Given the description of an element on the screen output the (x, y) to click on. 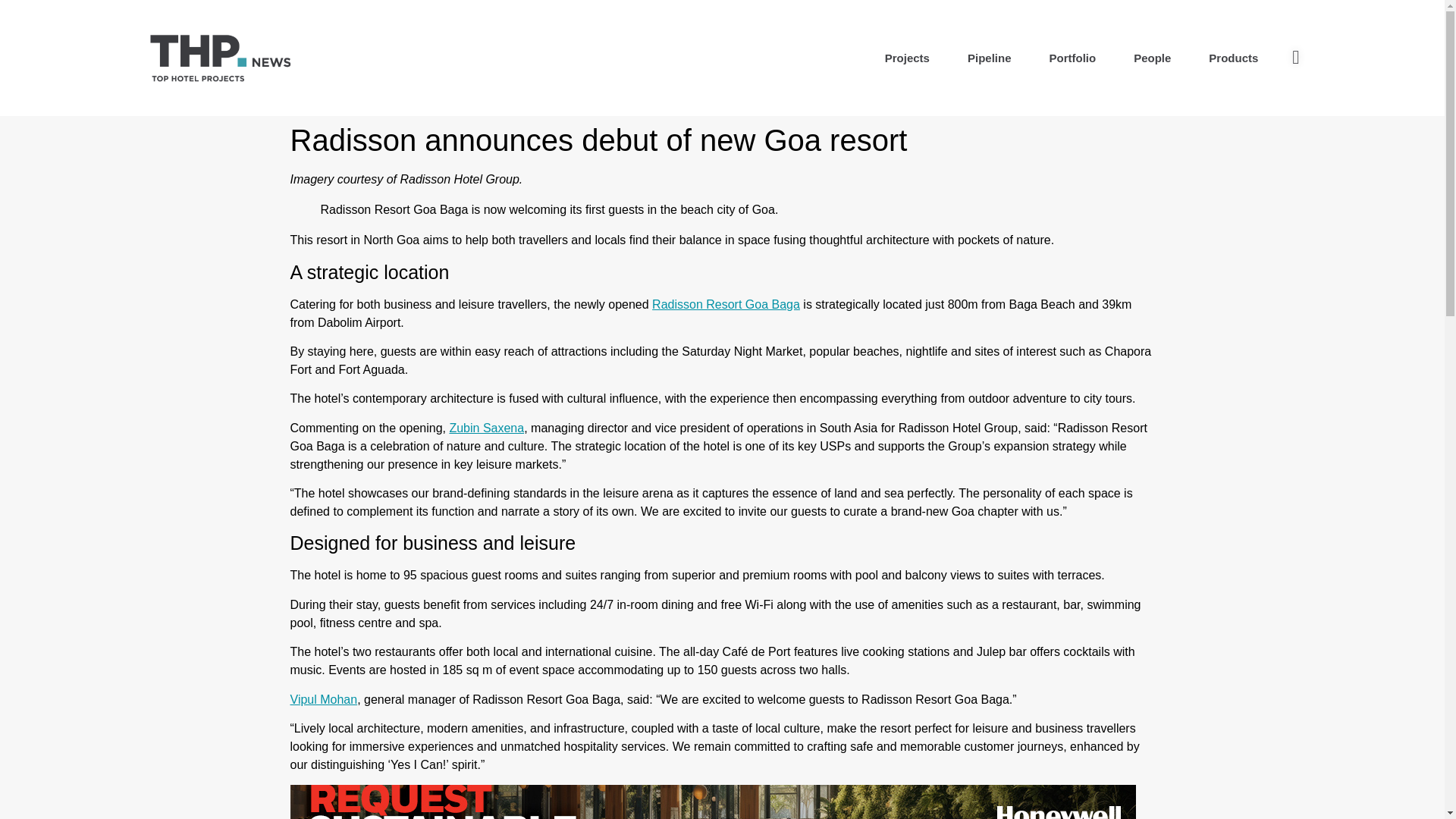
Projects (907, 58)
Radisson Resort Goa Baga (725, 303)
Portfolio (1072, 58)
Zubin Saxena (486, 427)
Vipul Mohan (322, 698)
Pipeline (989, 58)
People (1152, 58)
Products (1232, 58)
